Given the description of an element on the screen output the (x, y) to click on. 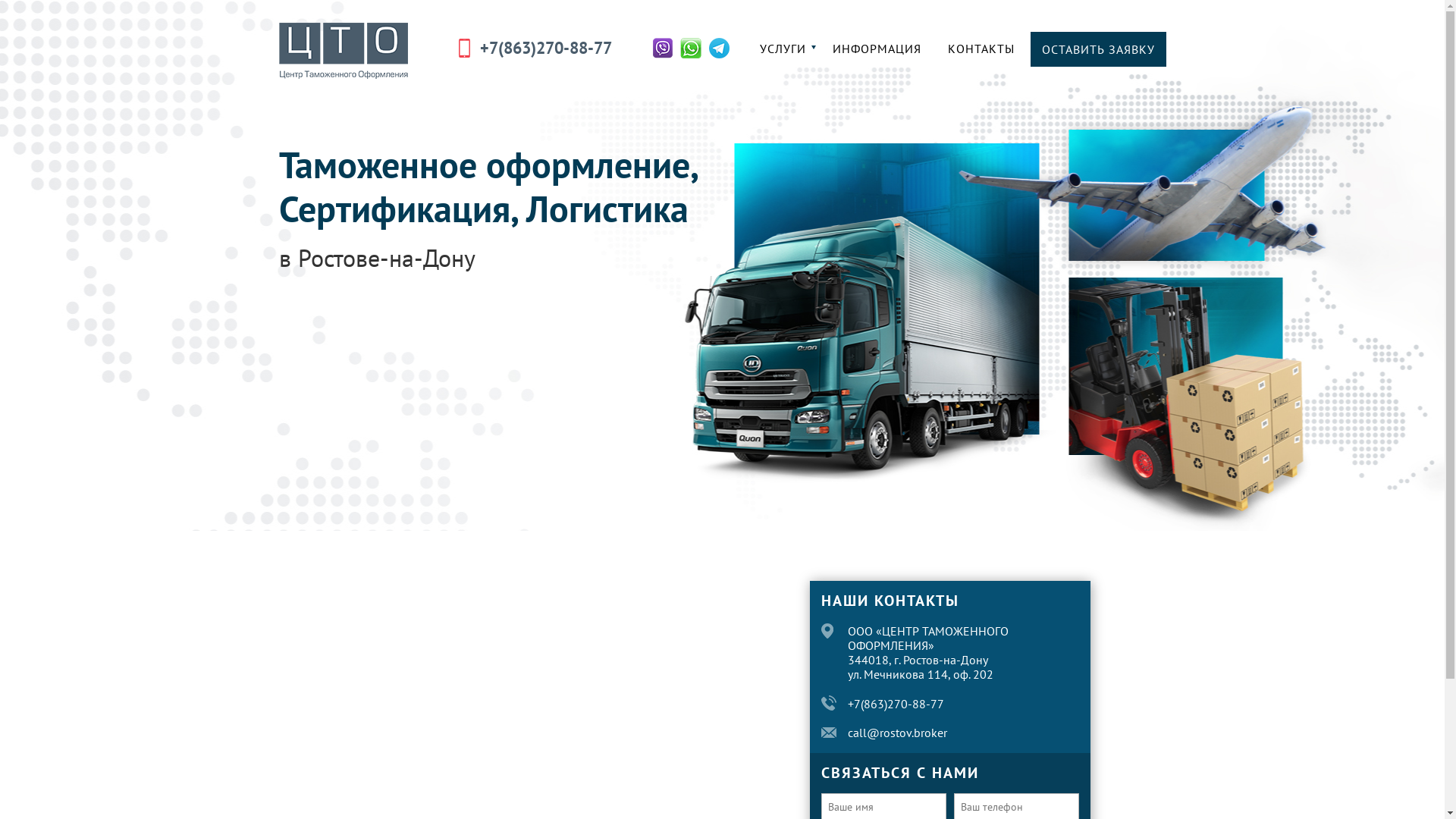
+7(863)270-88-77 Element type: text (545, 47)
call@rostov.broker Element type: text (897, 732)
+7(863)270-88-77 Element type: text (895, 703)
